Given the description of an element on the screen output the (x, y) to click on. 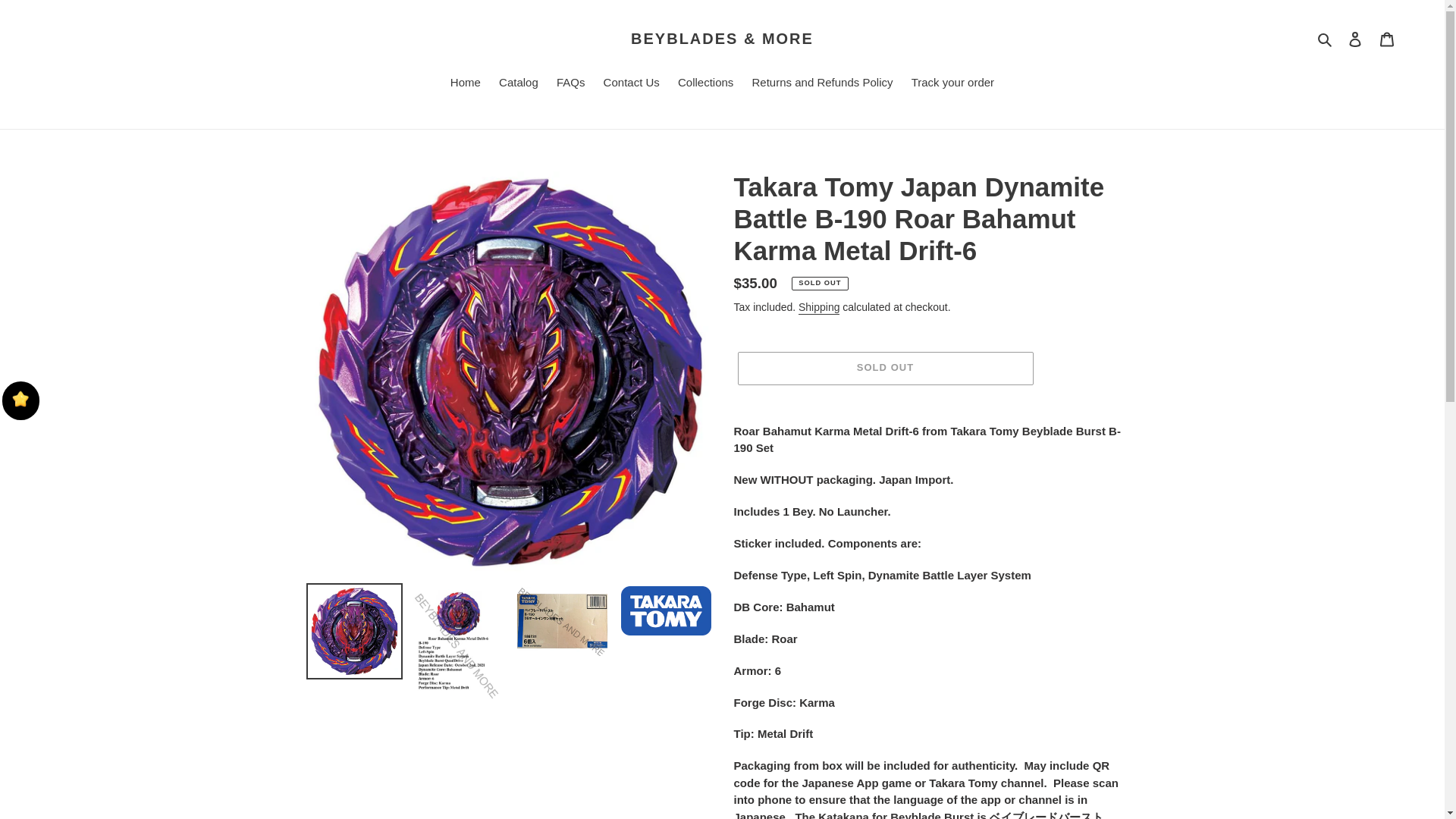
Catalog (519, 84)
Cart (1387, 38)
Search (1326, 38)
Home (464, 84)
Track your order (952, 84)
Contact Us (630, 84)
Collections (705, 84)
Log in (1355, 38)
SOLD OUT (884, 368)
Shipping (818, 307)
FAQs (570, 84)
Returns and Refunds Policy (822, 84)
